Given the description of an element on the screen output the (x, y) to click on. 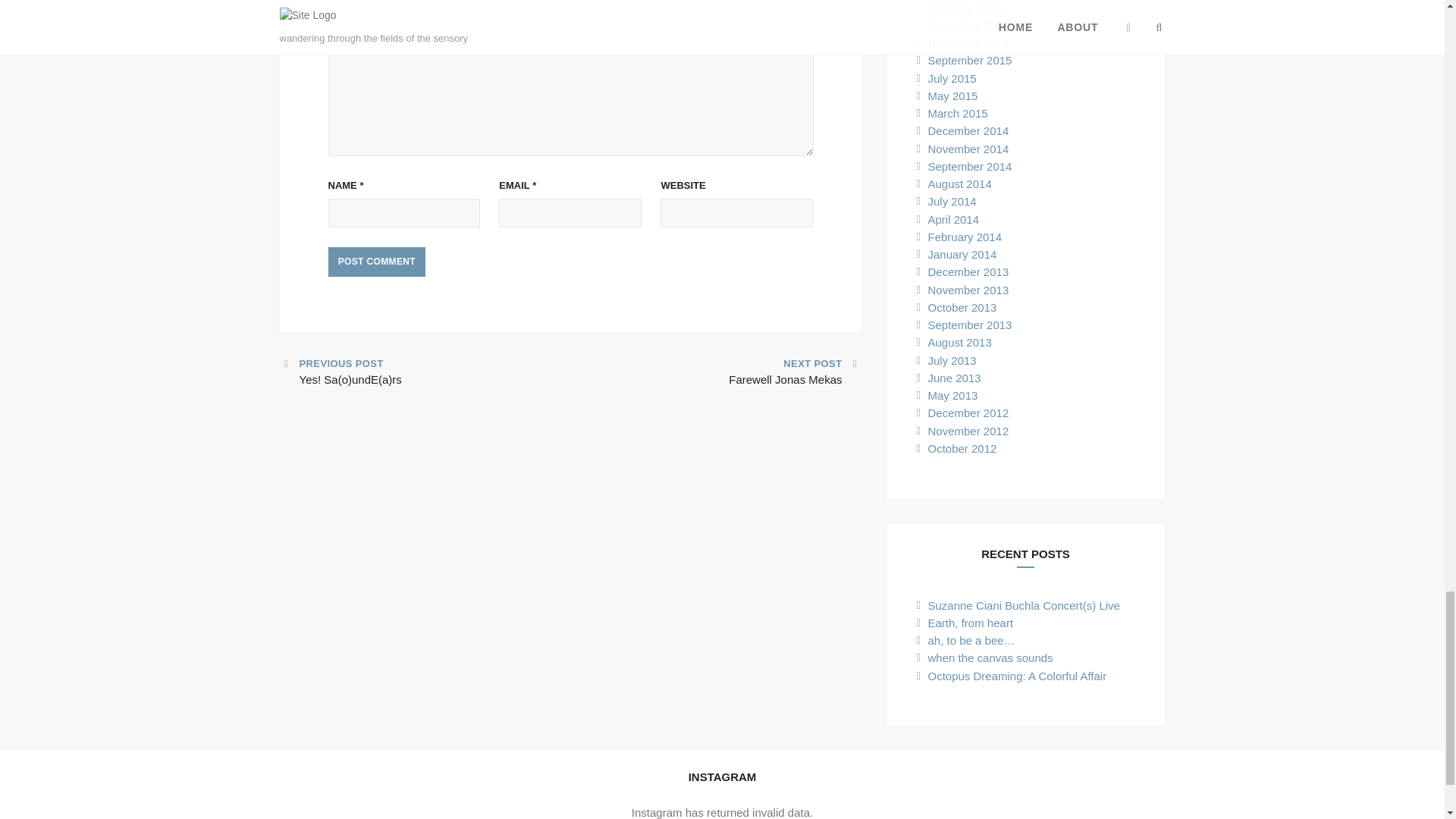
Post Comment (376, 261)
Post Comment (795, 371)
